Given the description of an element on the screen output the (x, y) to click on. 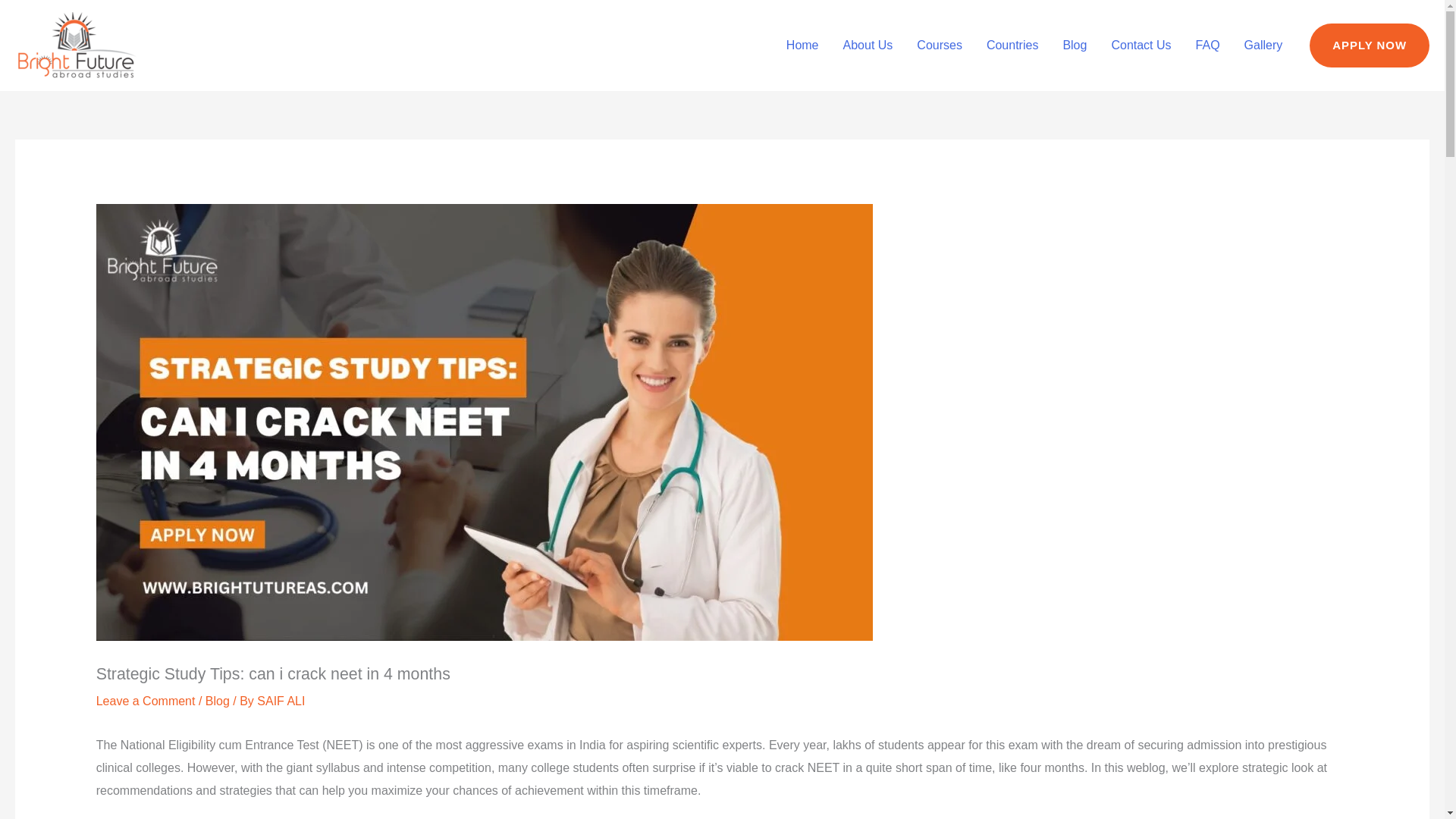
Countries (1011, 45)
View all posts by SAIF ALI (280, 700)
Leave a Comment (145, 700)
SAIF ALI (280, 700)
Blog (1074, 45)
FAQ (1207, 45)
APPLY NOW (1368, 45)
Gallery (1263, 45)
About Us (868, 45)
